Given the description of an element on the screen output the (x, y) to click on. 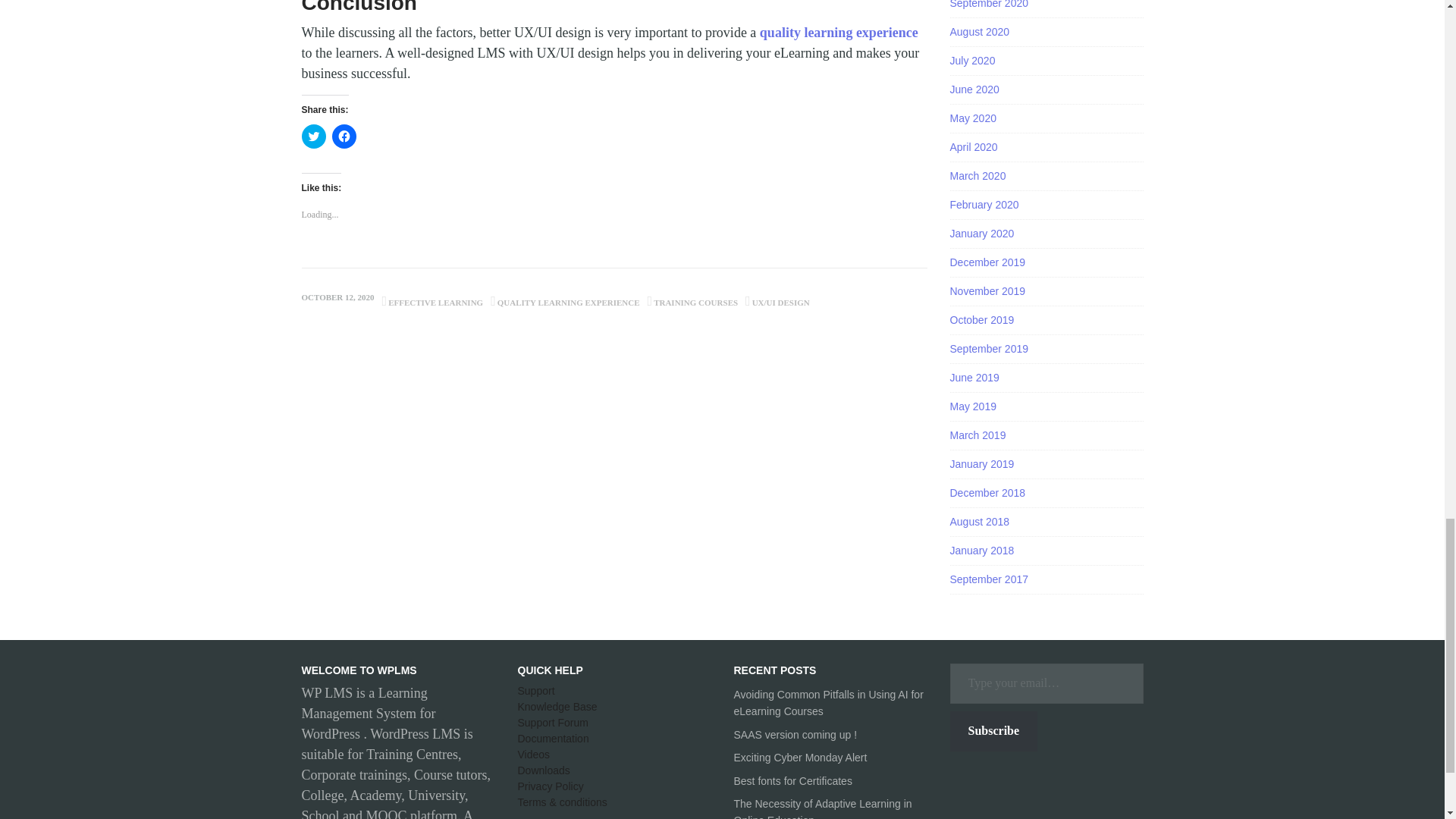
EFFECTIVE LEARNING (435, 302)
Click to share on Facebook (343, 136)
Please fill in this field. (1045, 683)
Click to share on Twitter (313, 136)
quality learning experience (839, 32)
